Given the description of an element on the screen output the (x, y) to click on. 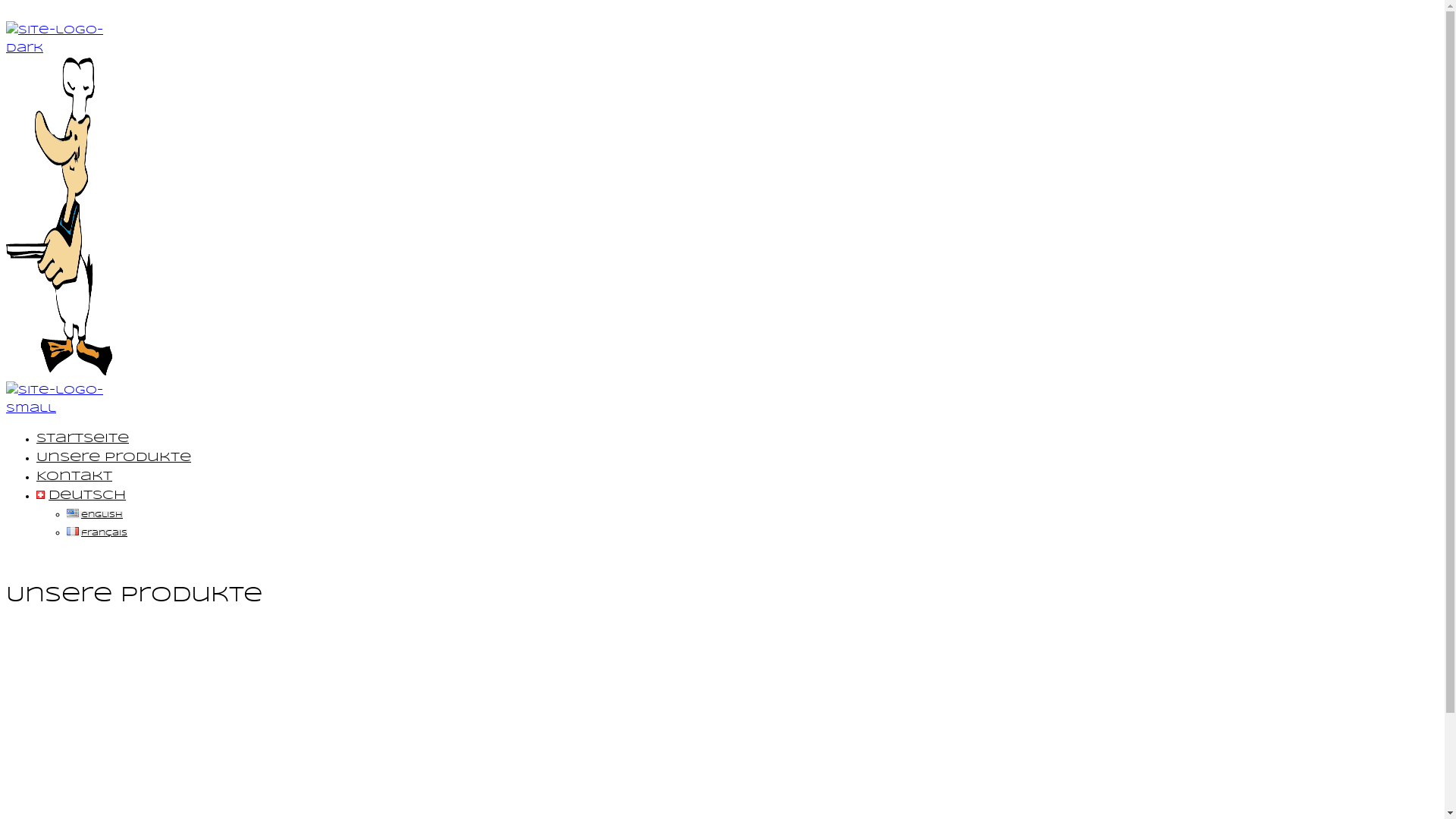
Kontakt Element type: text (74, 476)
Startseite Element type: text (82, 438)
english Element type: text (94, 514)
Unsere Produkte Element type: text (113, 457)
Deutsch Element type: text (80, 495)
